Given the description of an element on the screen output the (x, y) to click on. 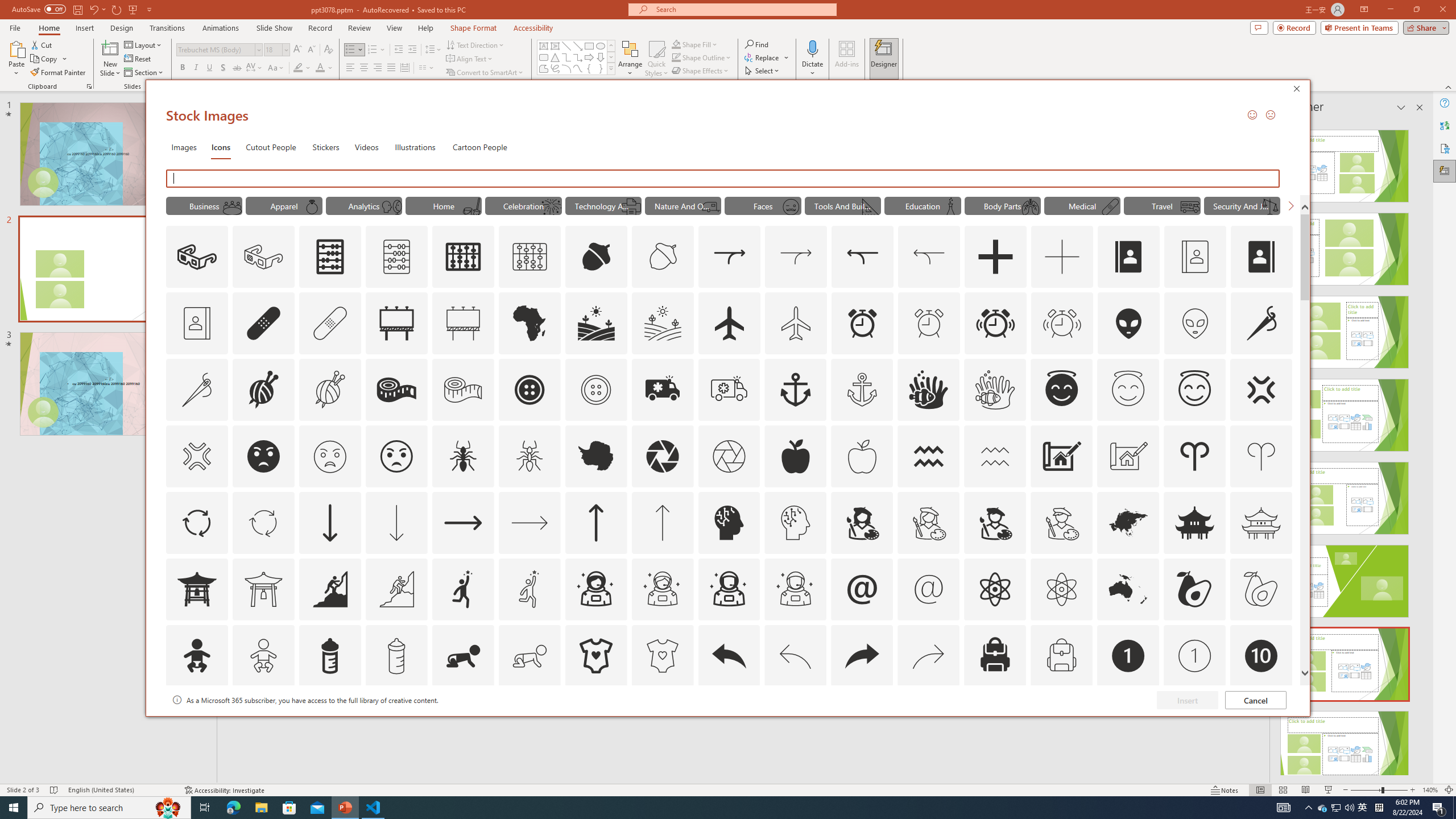
Search Icons (723, 178)
"Tools And Building" Icons. (842, 205)
AutomationID: Icons_AsianTemple_M (1260, 522)
AutomationID: Icons_Aspiration1 (462, 588)
AutomationID: Icons_Africa (529, 323)
AutomationID: Icons_Badge7_M (995, 721)
AutomationID: Icons_Atom_M (1061, 588)
outline (1194, 389)
"Business" Icons. (203, 205)
